Given the description of an element on the screen output the (x, y) to click on. 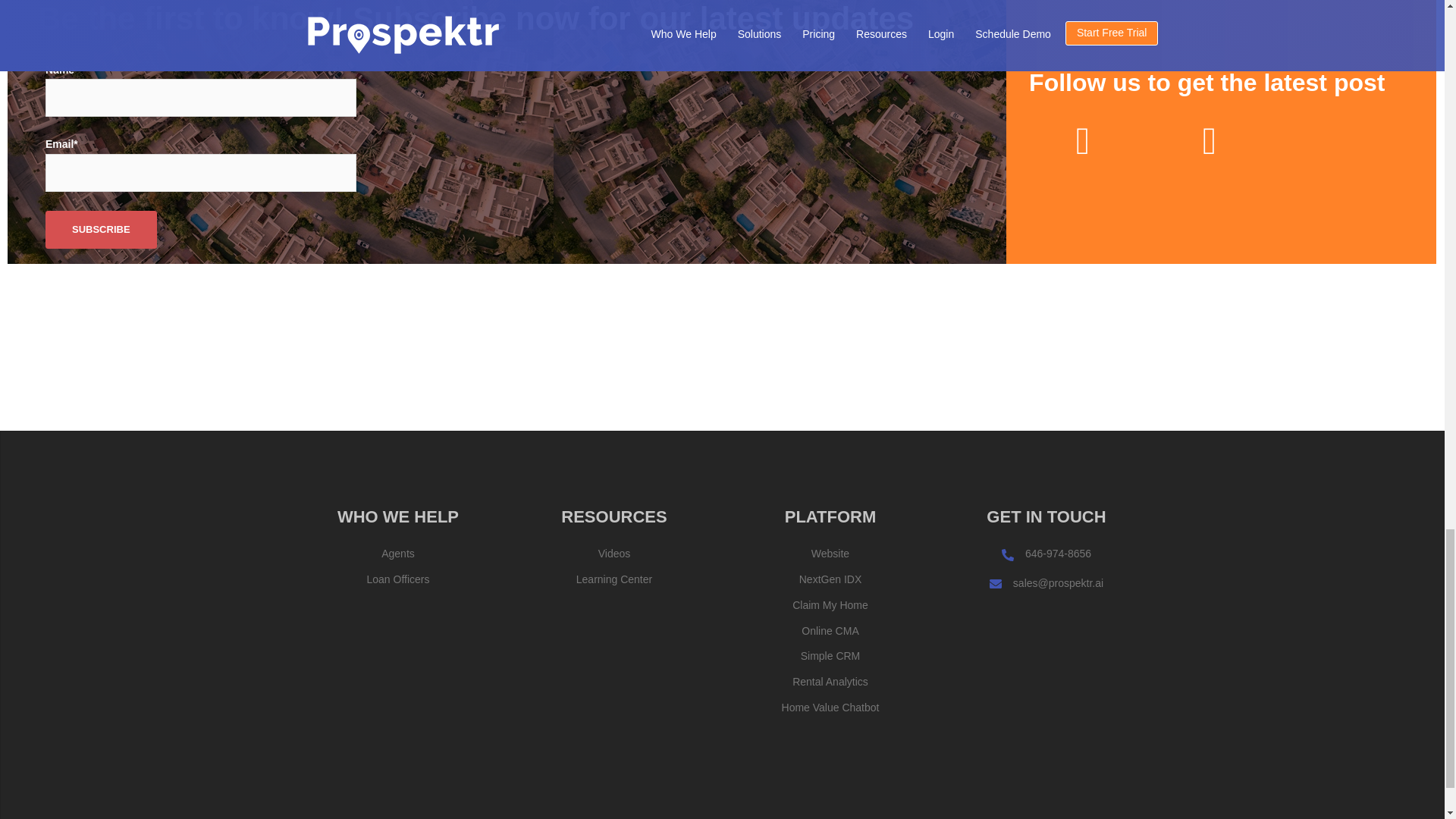
Subscribe (101, 229)
Subscribe (101, 229)
